Given the description of an element on the screen output the (x, y) to click on. 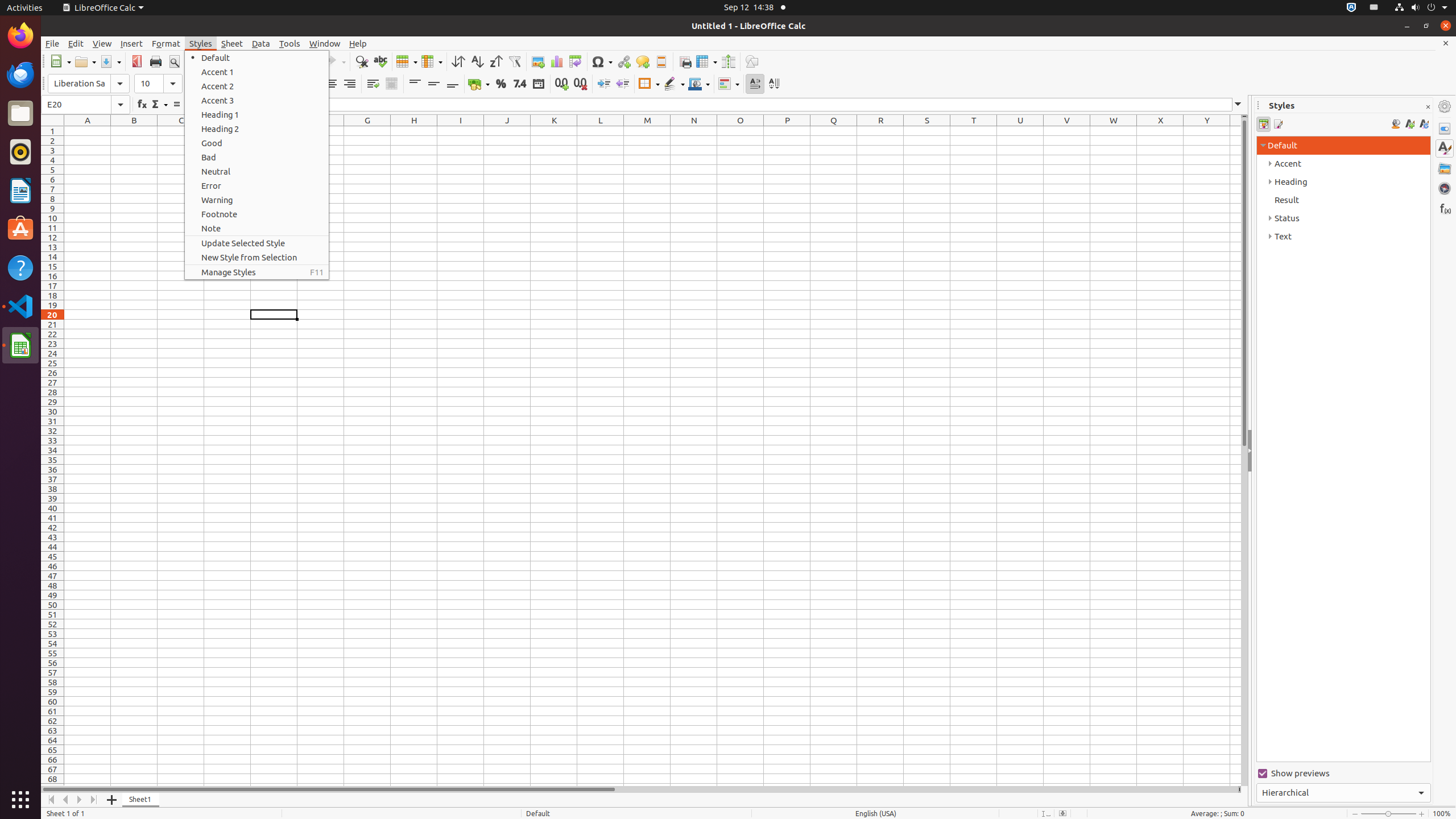
Styles Element type: radio-button (1444, 148)
Borders (Shift to overwrite) Element type: push-button (648, 83)
Gallery Element type: radio-button (1444, 168)
Functions Element type: radio-button (1444, 208)
Function Wizard Element type: push-button (141, 104)
